Given the description of an element on the screen output the (x, y) to click on. 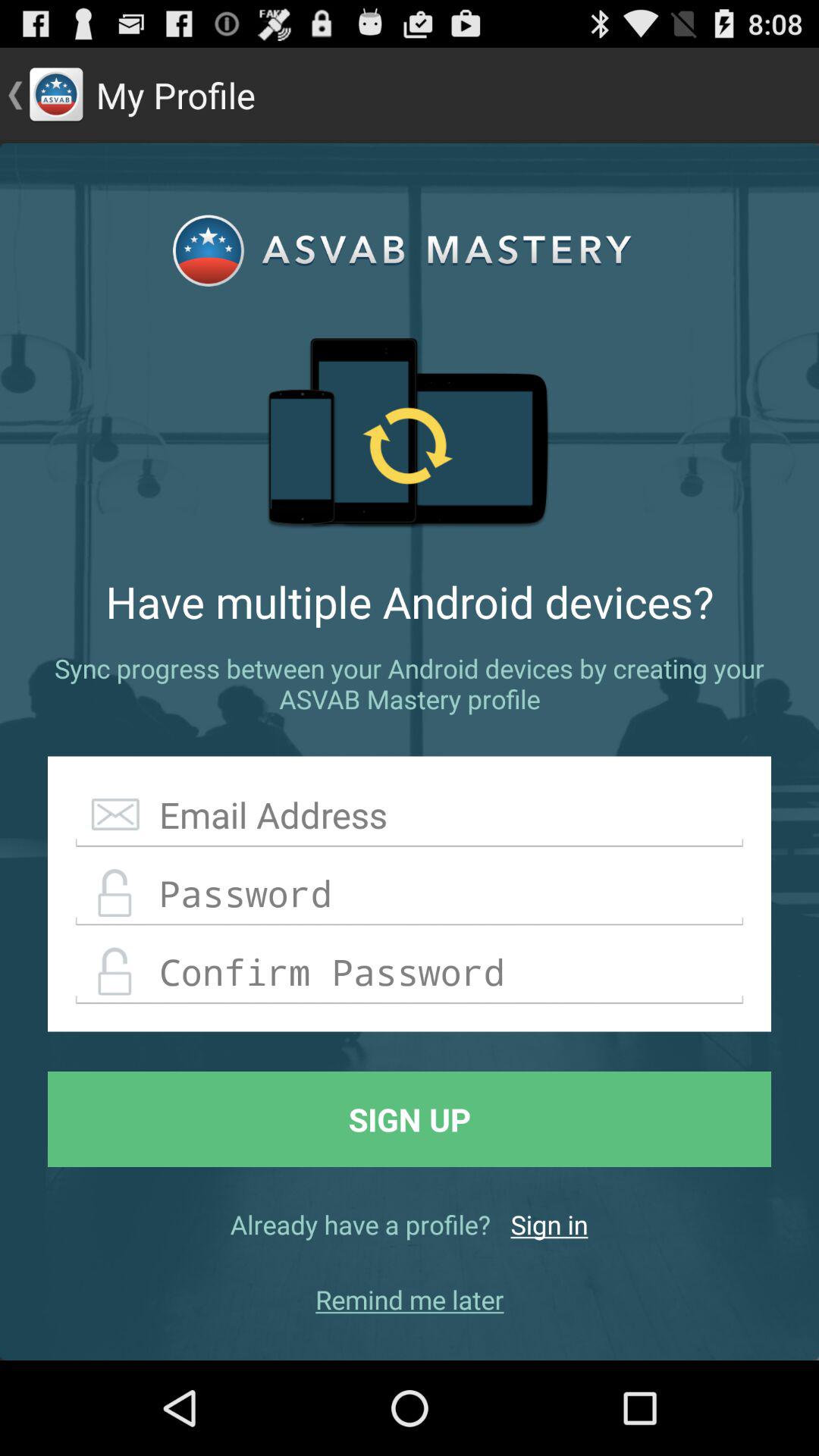
turn off the icon below sync progress between item (409, 815)
